Given the description of an element on the screen output the (x, y) to click on. 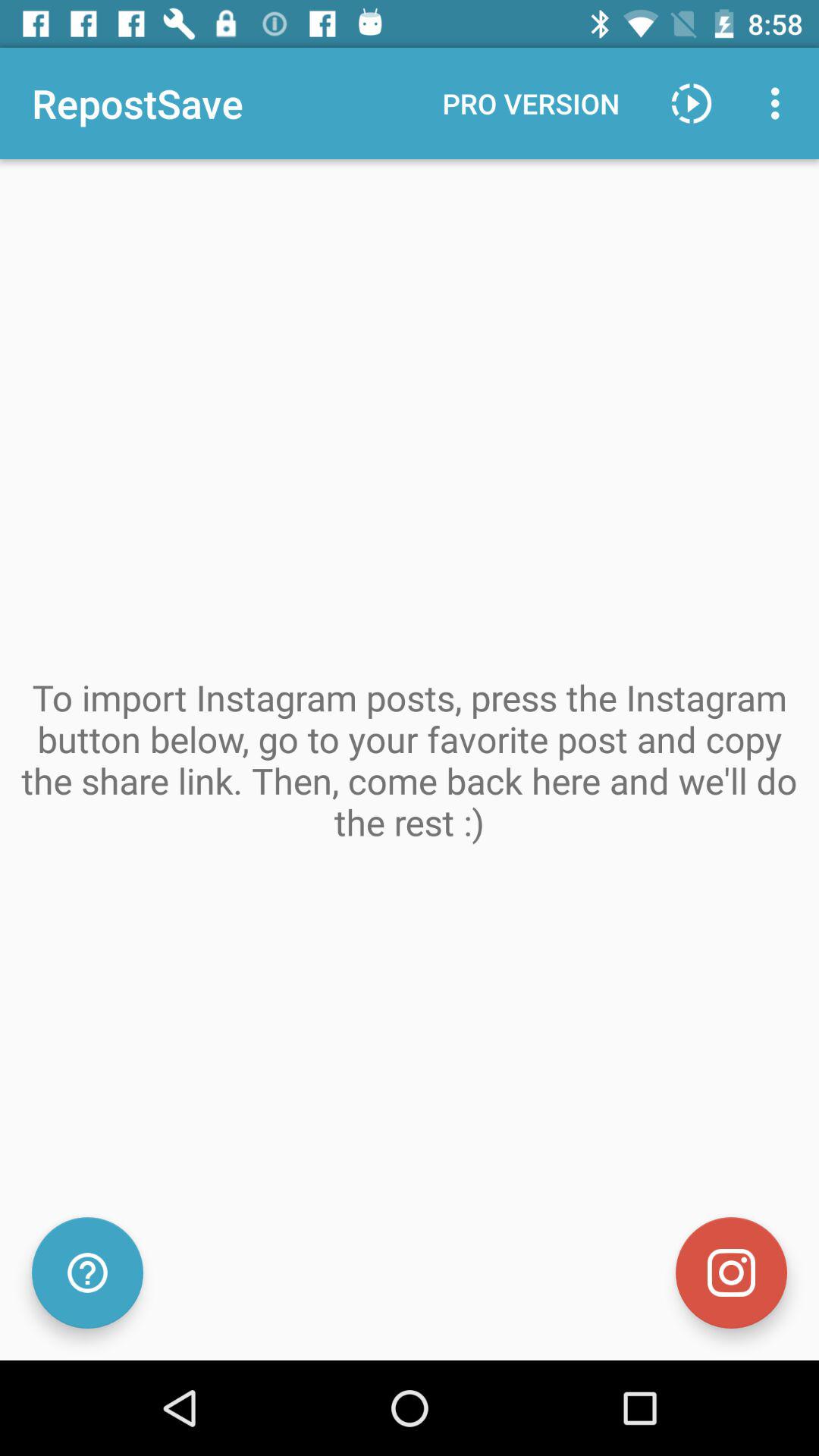
turn on the item below to import instagram item (731, 1272)
